Given the description of an element on the screen output the (x, y) to click on. 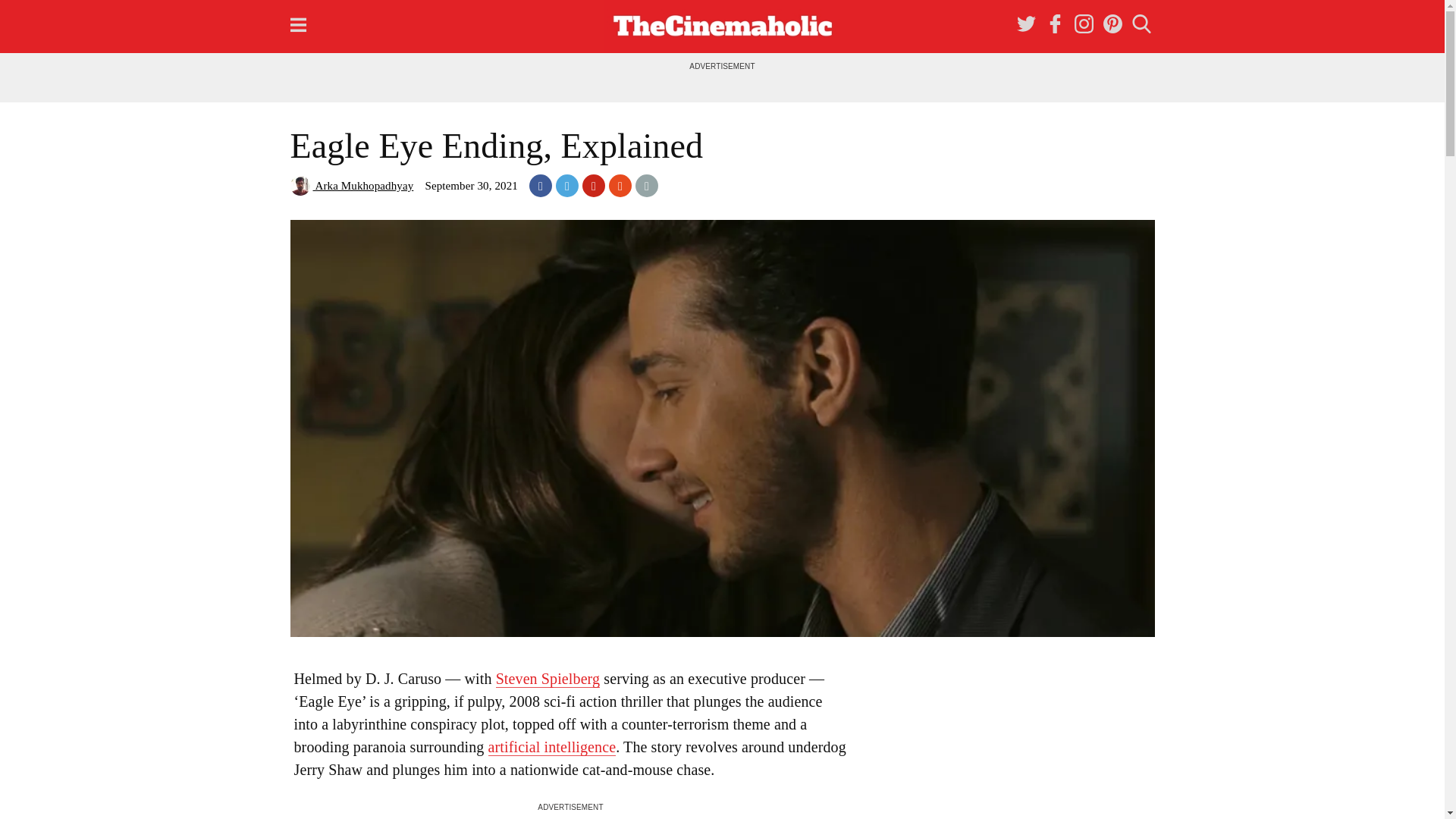
Arka Mukhopadhyay (351, 185)
artificial intelligence (551, 746)
Steven Spielberg (547, 678)
